Given the description of an element on the screen output the (x, y) to click on. 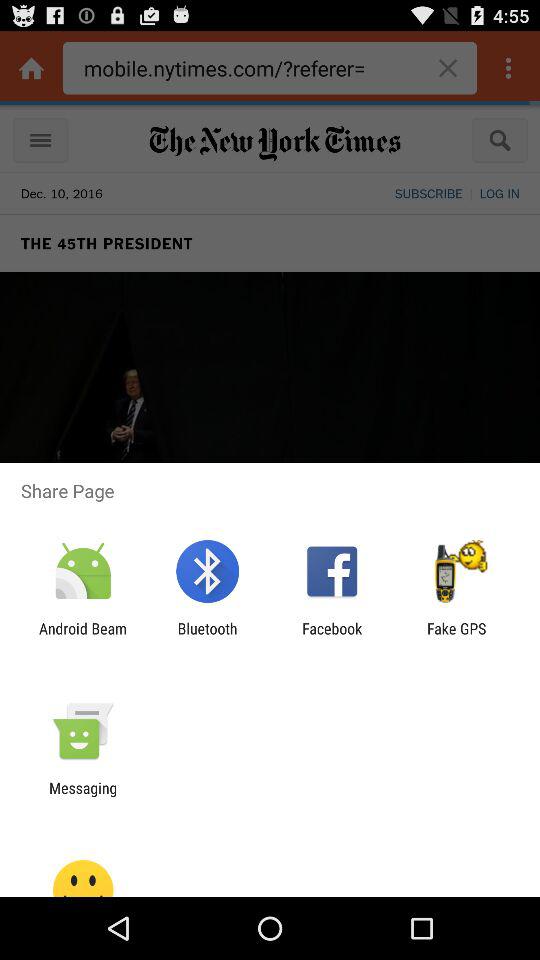
scroll to bluetooth app (207, 637)
